Given the description of an element on the screen output the (x, y) to click on. 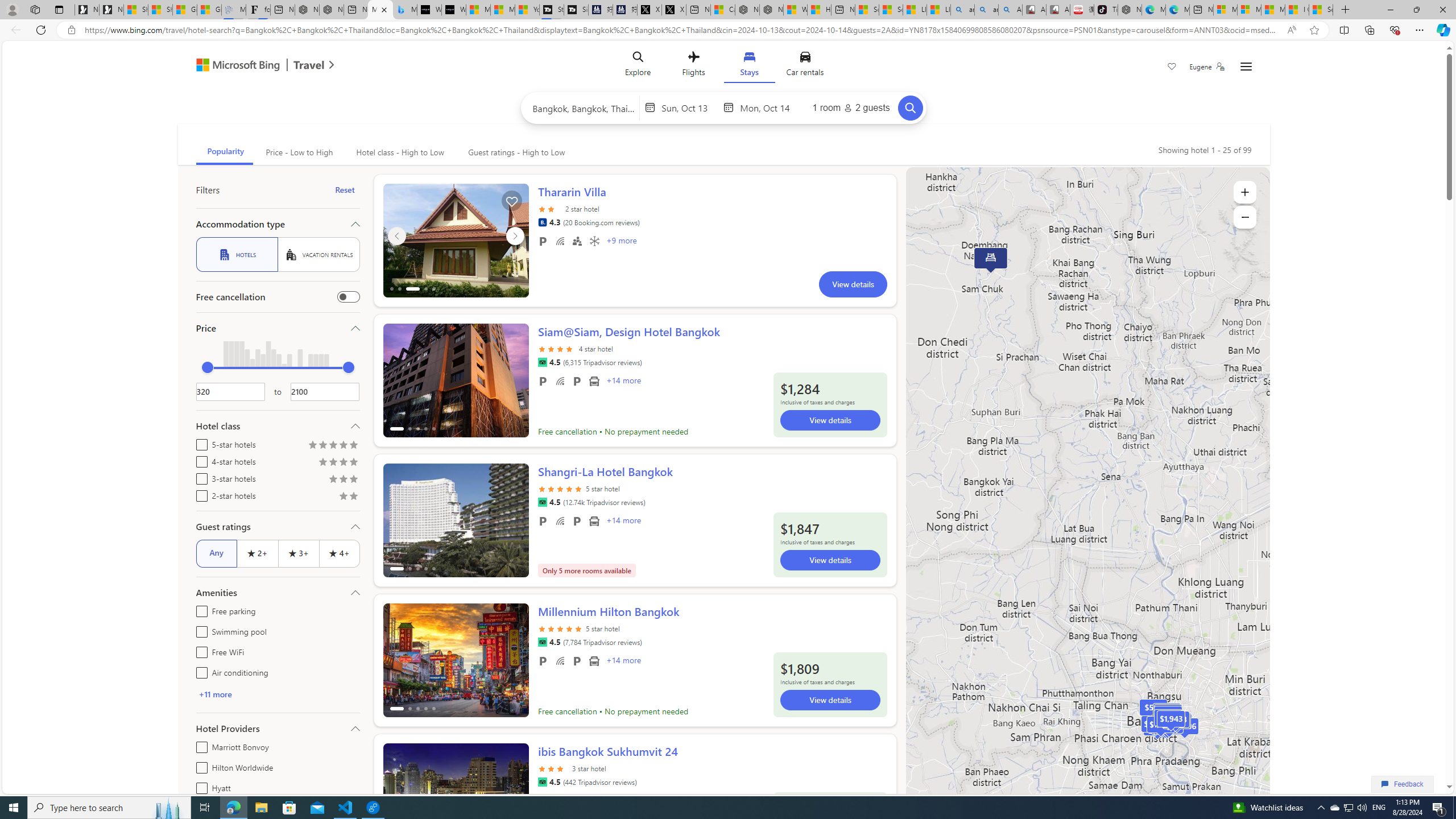
Zoom out (1244, 216)
Any (216, 553)
Start Date (689, 107)
Stays (748, 65)
Class: msft-travel-logo (308, 64)
Guest ratings - High to Low (515, 152)
Guest ratings (277, 526)
4+ (338, 553)
Free parking (542, 660)
